Given the description of an element on the screen output the (x, y) to click on. 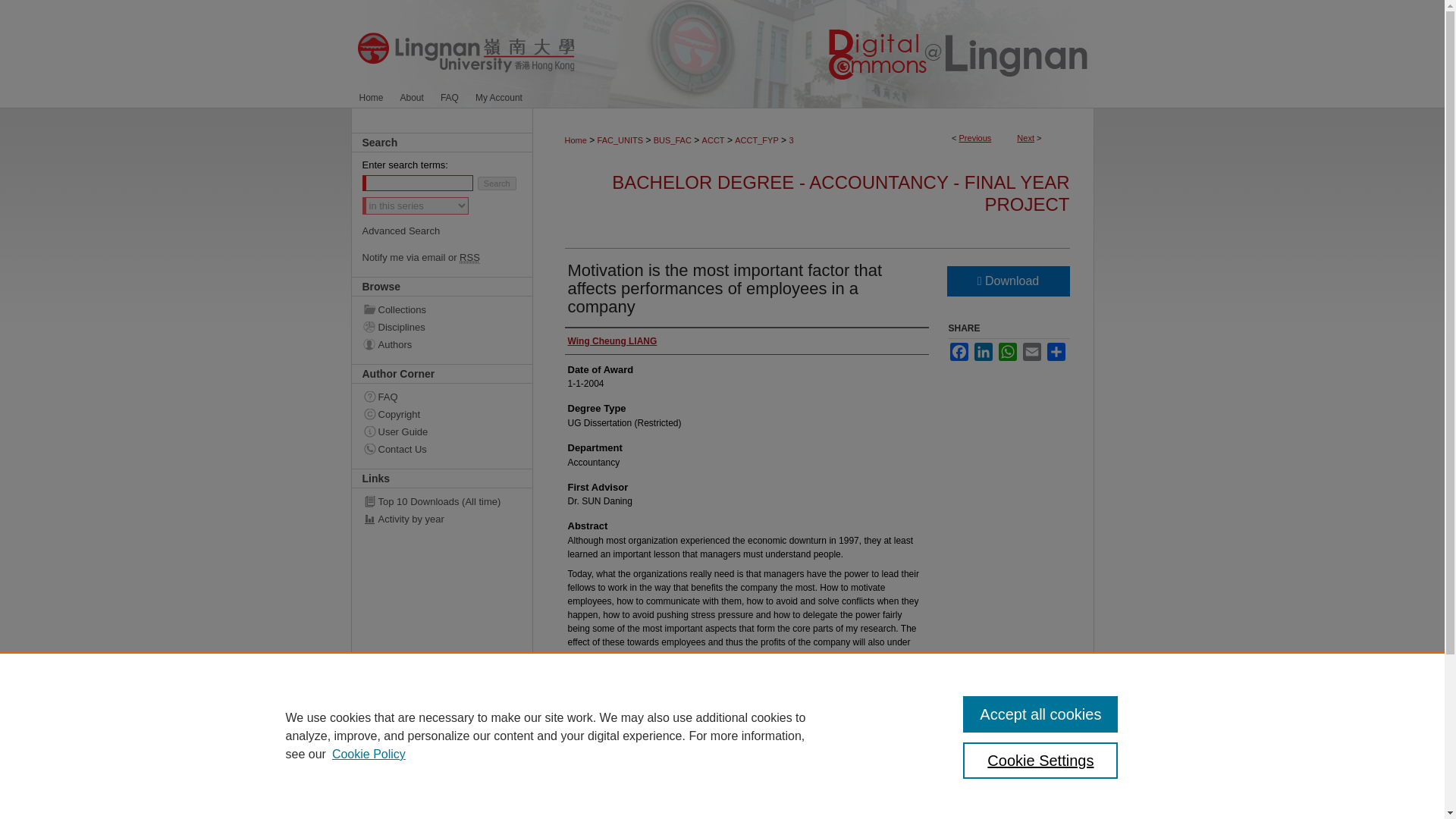
WhatsApp (1006, 352)
My Account (499, 97)
Home (370, 97)
BACHELOR DEGREE - ACCOUNTANCY - FINAL YEAR PROJECT (839, 192)
Download (1007, 281)
FAQ (453, 396)
My Account (499, 97)
Advanced Search (401, 230)
Facebook (958, 352)
LinkedIn (982, 352)
ACCT (713, 139)
Browse by Collections (453, 309)
Browse by Author (453, 344)
Wing Cheung LIANG (611, 341)
Home (370, 97)
